Given the description of an element on the screen output the (x, y) to click on. 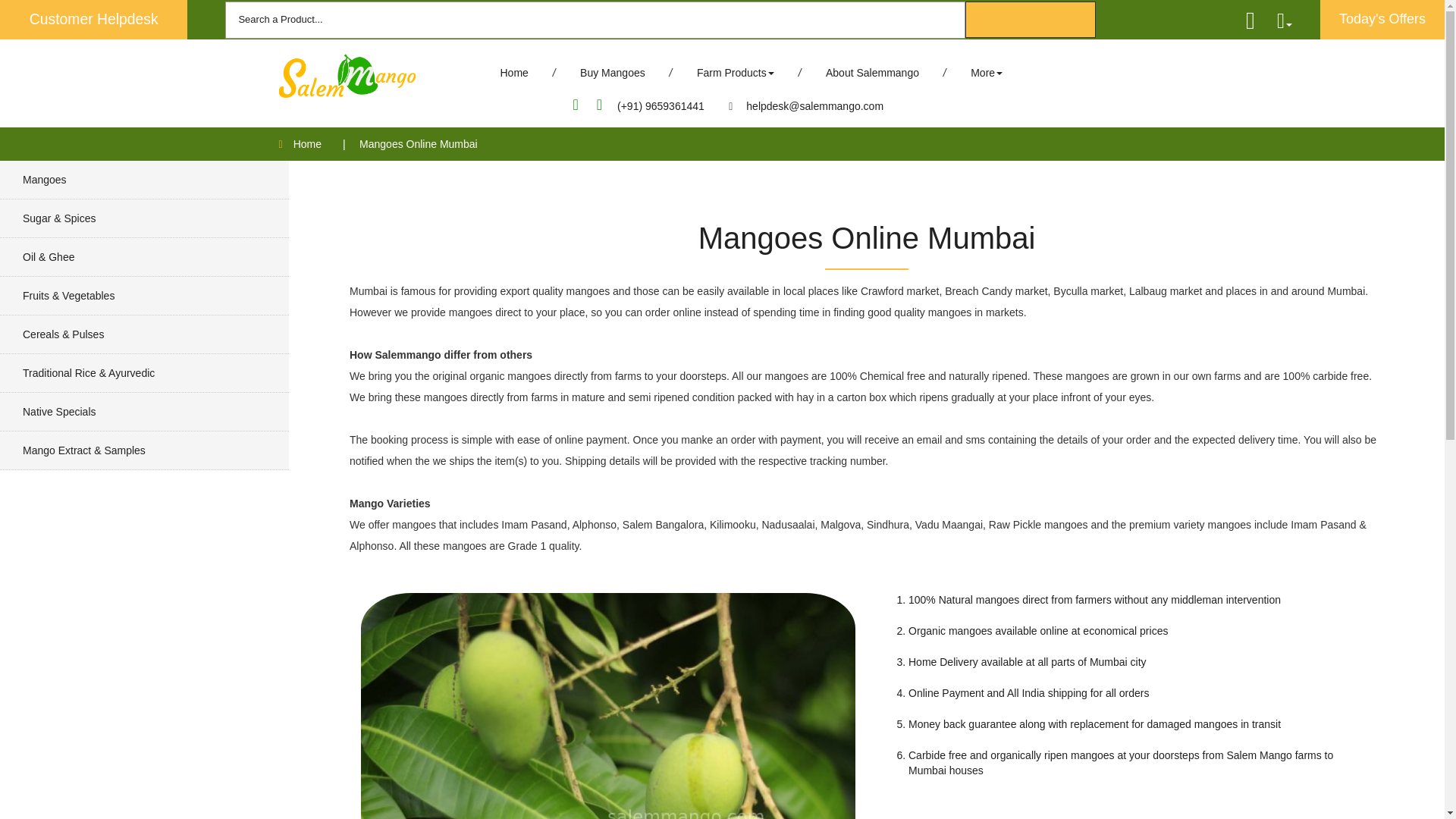
Farm Products (735, 72)
Customer Helpdesk (93, 19)
More (987, 72)
About Salemmango (871, 72)
Search a Product... (594, 19)
Home (312, 143)
Buy Mangoes (612, 72)
Home (514, 72)
